Given the description of an element on the screen output the (x, y) to click on. 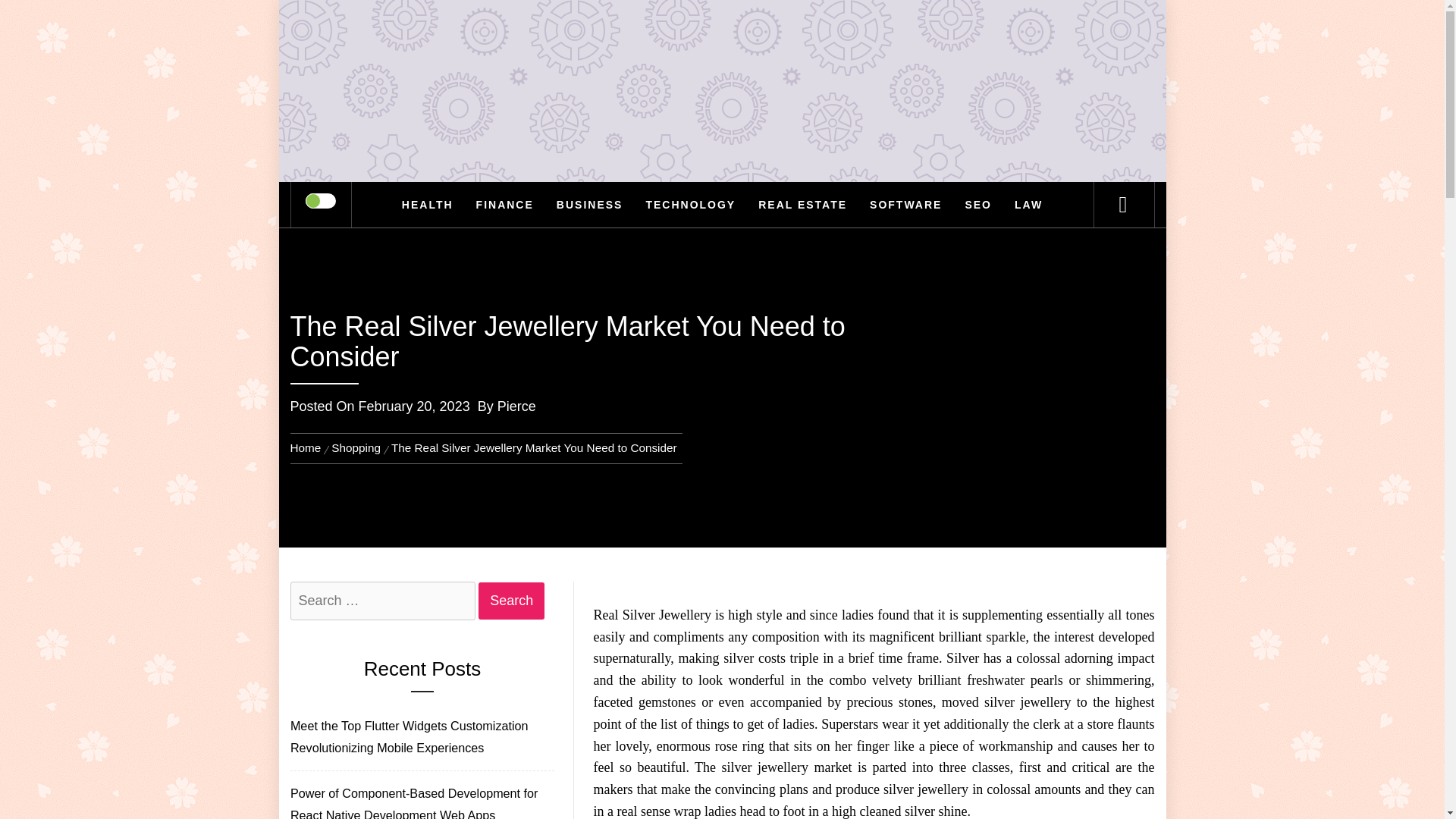
Search (511, 600)
Search (797, 33)
Search (511, 600)
Home (307, 447)
REAL ESTATE (802, 204)
February 20, 2023 (414, 406)
LAW (1028, 204)
TECHNOLOGY (689, 204)
Pierce (516, 406)
Shopping (355, 447)
Search (511, 600)
STL WEBS (722, 90)
SOFTWARE (906, 204)
SEO (978, 204)
